Given the description of an element on the screen output the (x, y) to click on. 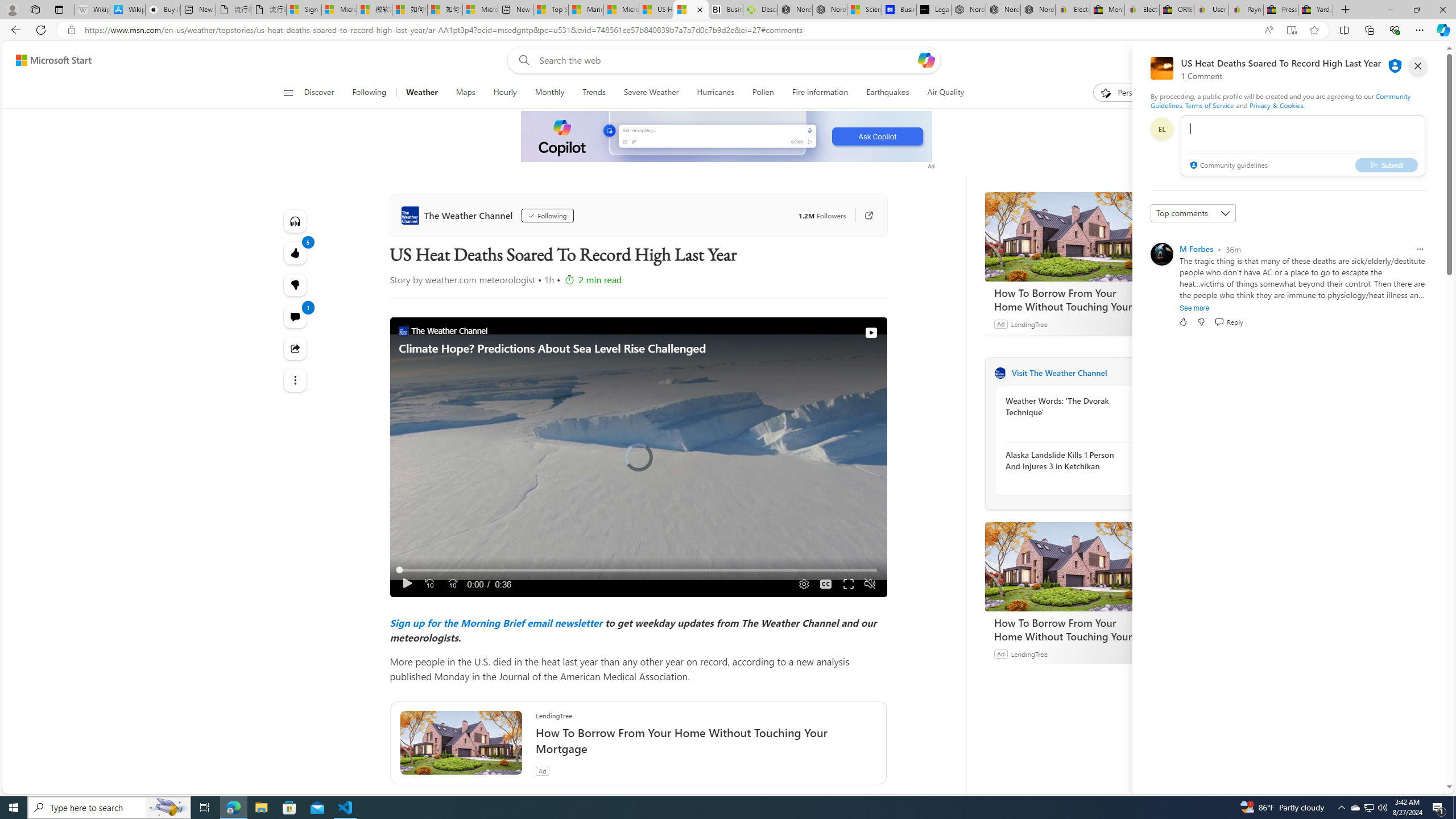
Maps (465, 92)
Settings and more (Alt+F) (1419, 29)
Trends (593, 92)
Sign in to your Microsoft account (303, 9)
Pollen (763, 92)
Yard, Garden & Outdoor Living (1315, 9)
Fire information (820, 92)
To get missing image descriptions, open the context menu. (726, 136)
Payments Terms of Use | eBay.com (1246, 9)
The Weather Channel (1000, 372)
Hurricanes (716, 92)
Electronics, Cars, Fashion, Collectibles & More | eBay (1141, 9)
